Given the description of an element on the screen output the (x, y) to click on. 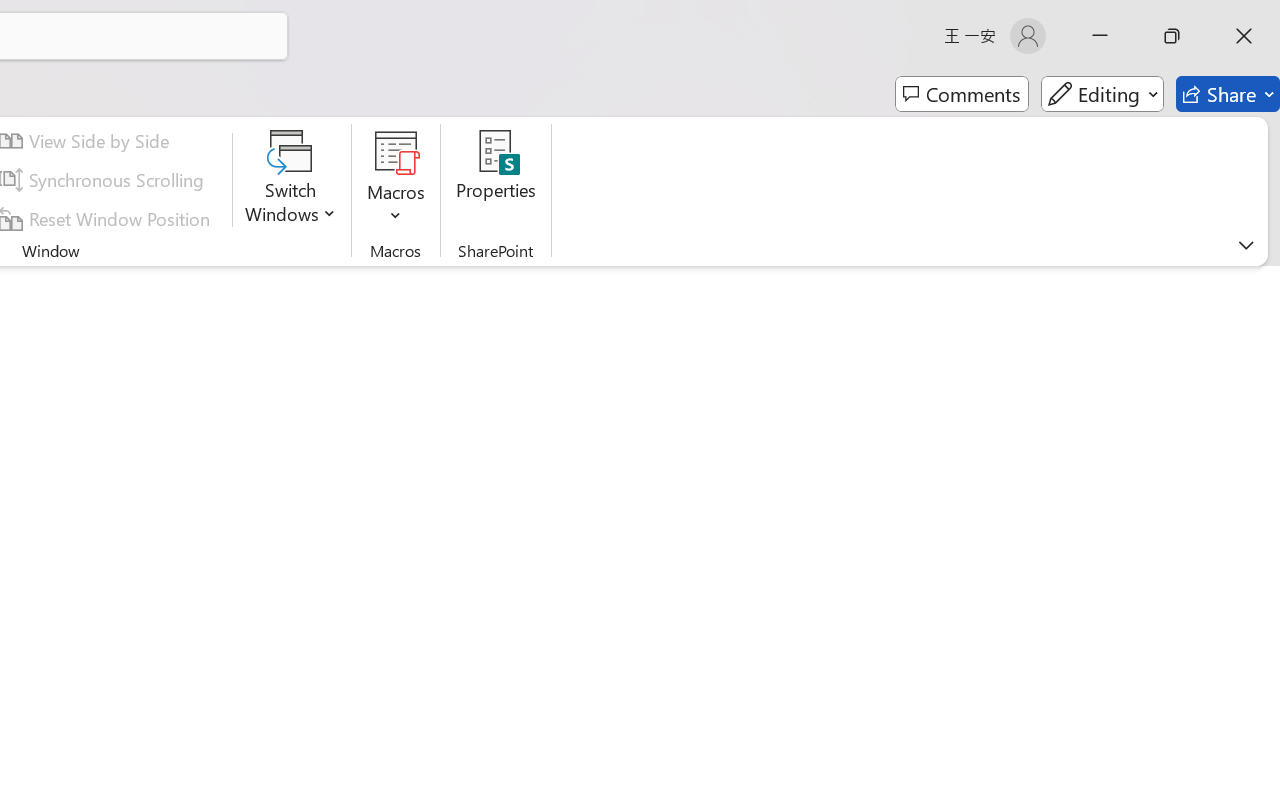
View Macros (395, 151)
Minimize (1099, 36)
More Options (395, 208)
Switch Windows (290, 179)
Macros (395, 179)
Editing (1101, 94)
Share (1228, 94)
Close (1244, 36)
Ribbon Display Options (1246, 245)
Restore Down (1172, 36)
Properties (496, 179)
Comments (961, 94)
